Given the description of an element on the screen output the (x, y) to click on. 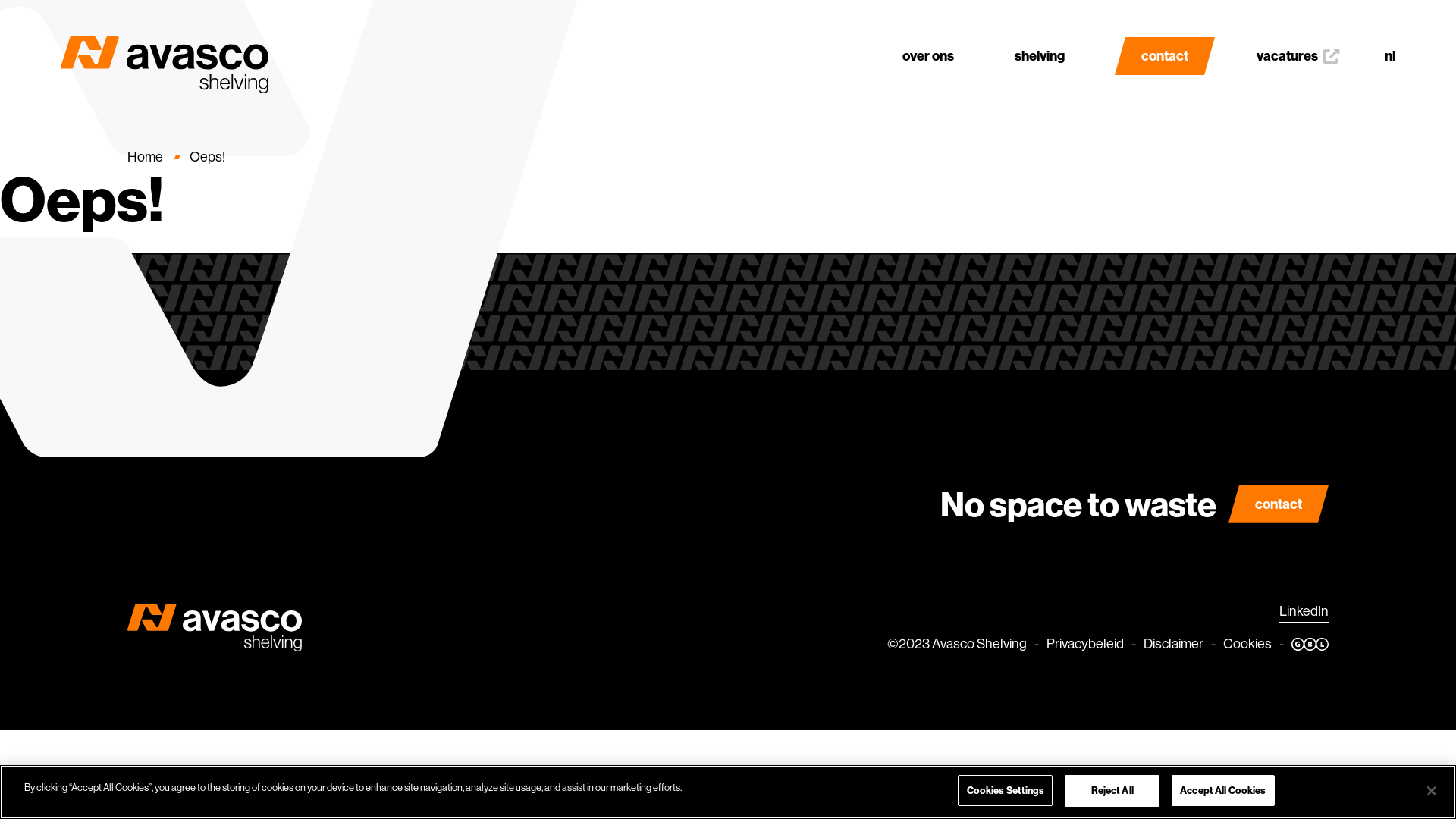
contact Element type: text (1164, 56)
contact Element type: text (1278, 504)
vacatures Element type: text (1297, 37)
GBL Element type: text (1309, 643)
Cookies Settings Element type: text (1004, 790)
shelving Element type: text (1039, 37)
Privacybeleid Element type: text (1084, 644)
Reject All Element type: text (1111, 790)
LinkedIn Element type: text (1303, 611)
Overslaan en naar de inhoud gaan Element type: text (0, 0)
Oeps! Element type: text (207, 157)
Home Element type: text (145, 157)
nl Element type: text (1389, 56)
Cookies Element type: text (1247, 644)
Avasco Shelving Element type: text (978, 644)
Accept All Cookies Element type: text (1222, 790)
over ons Element type: text (927, 37)
Disclaimer Element type: text (1173, 644)
